Given the description of an element on the screen output the (x, y) to click on. 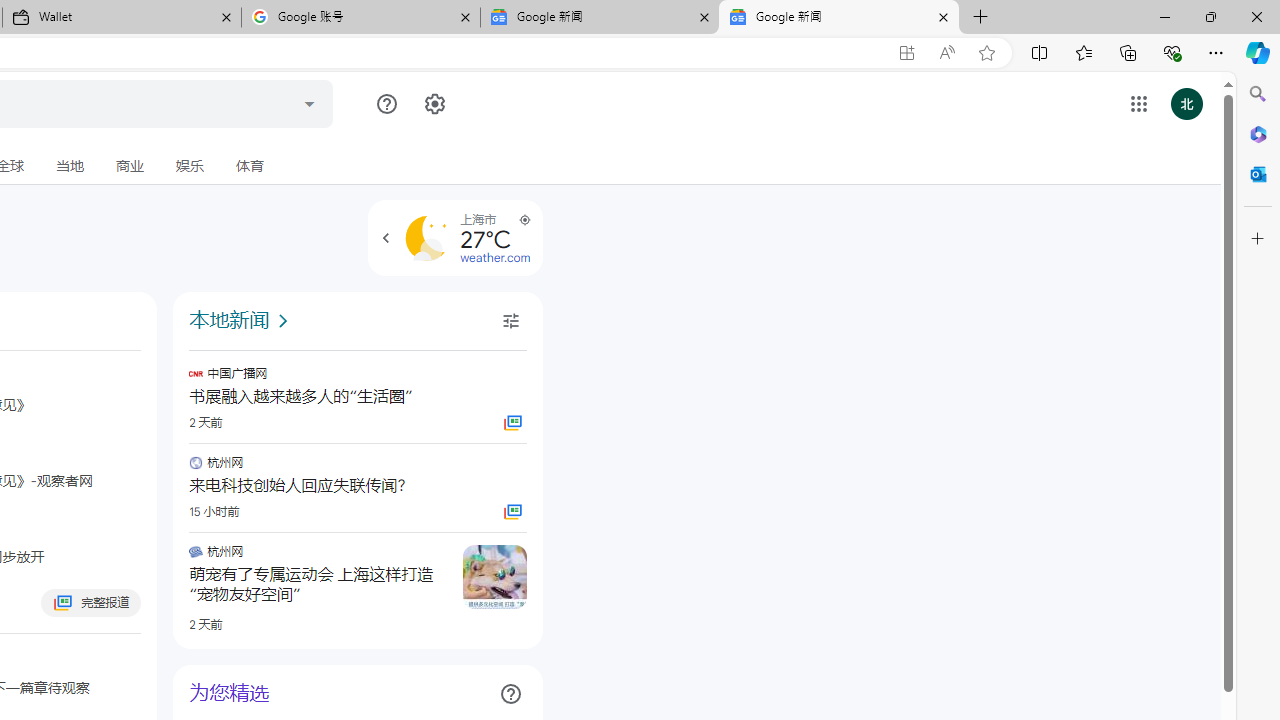
Class: zRMMZb NMm5M (524, 219)
